Given the description of an element on the screen output the (x, y) to click on. 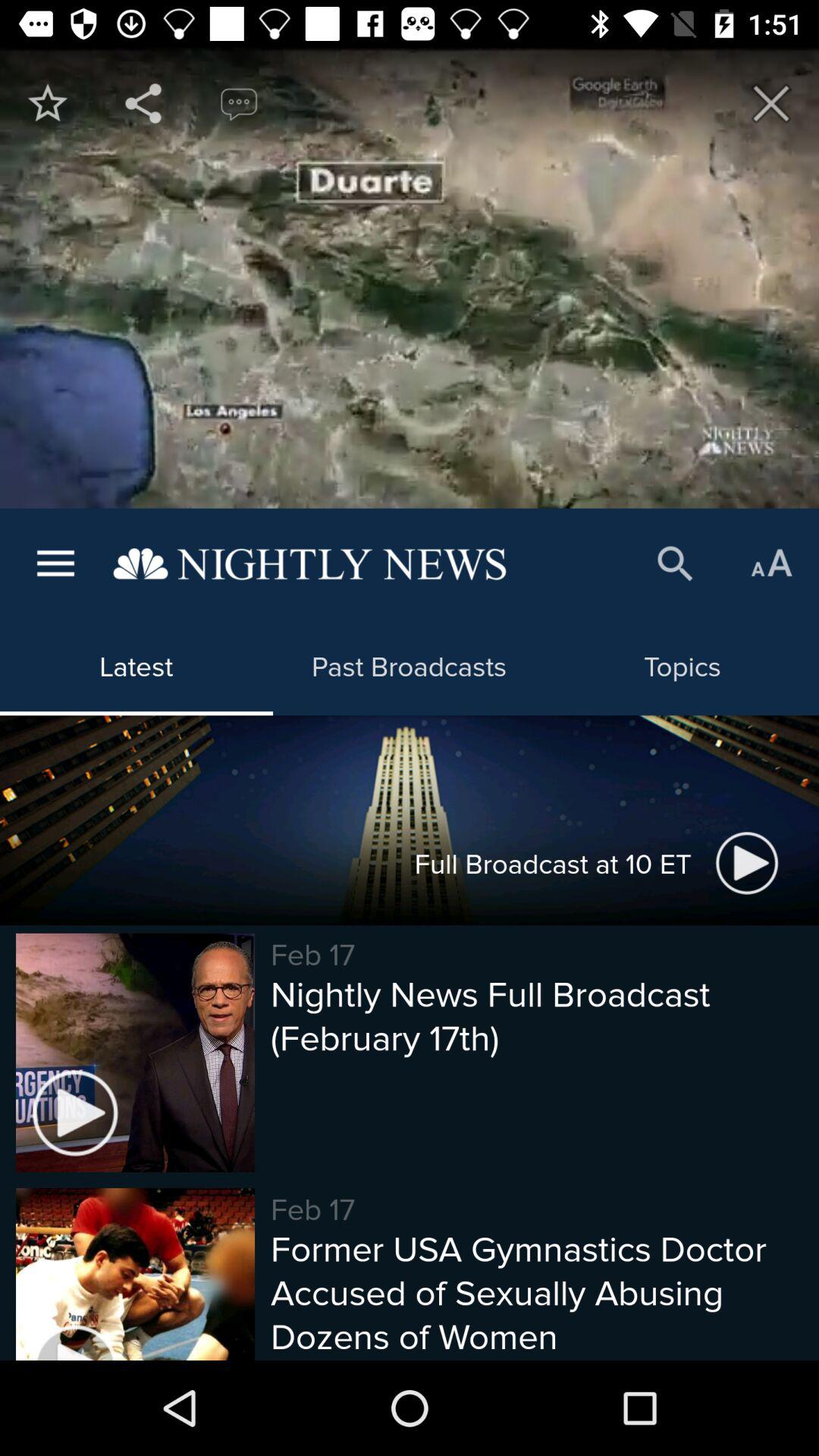
favorite nightly news (47, 103)
